Given the description of an element on the screen output the (x, y) to click on. 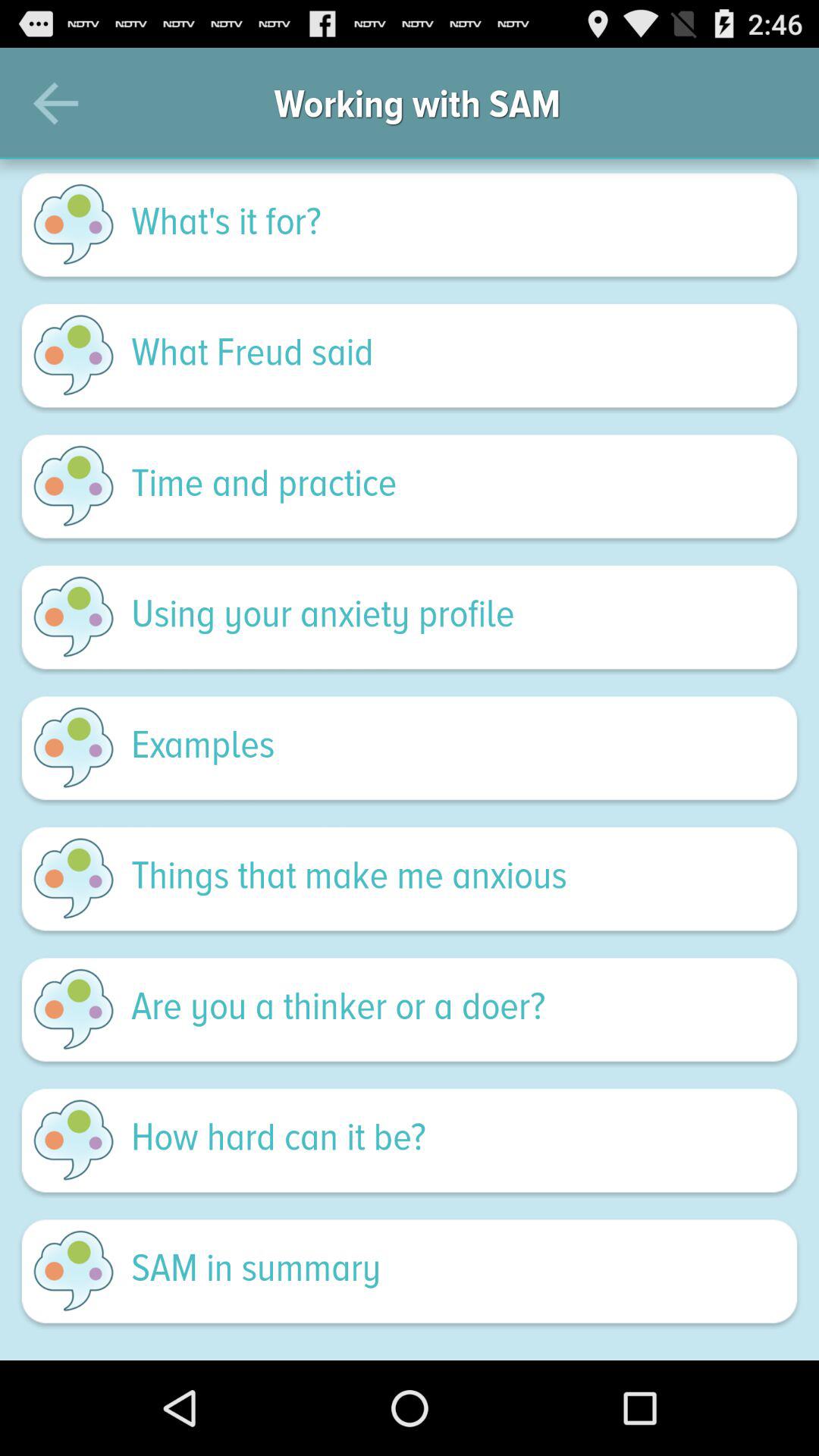
go to left of sam (73, 1271)
